Given the description of an element on the screen output the (x, y) to click on. 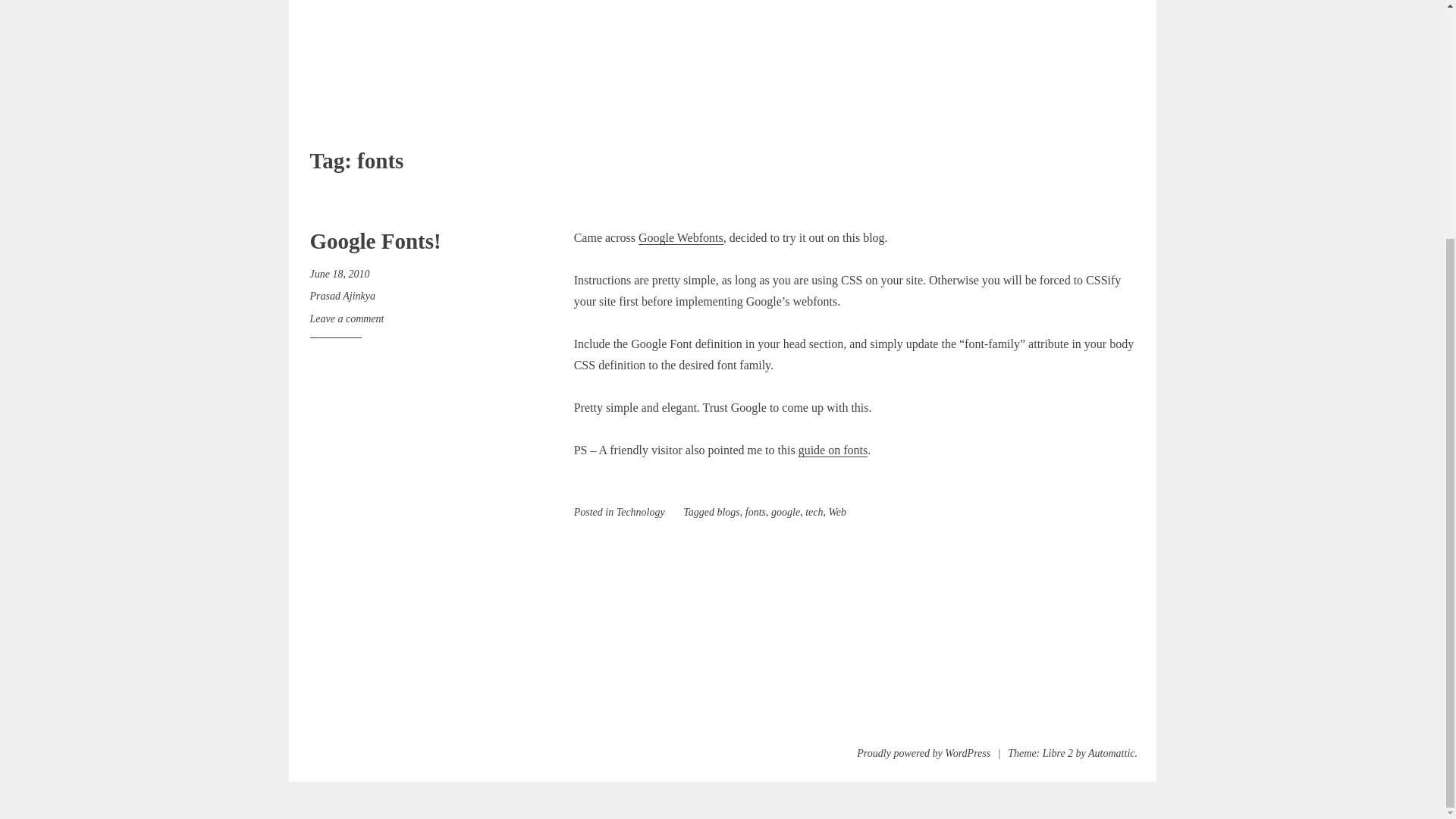
Web (836, 511)
blogs (727, 511)
Google Fonts! (374, 241)
Proudly powered by WordPress (923, 753)
google (785, 511)
guide on fonts (832, 449)
tech (813, 511)
Prasad Ajinkya (341, 296)
Automattic (1110, 753)
Technology (640, 511)
